Given the description of an element on the screen output the (x, y) to click on. 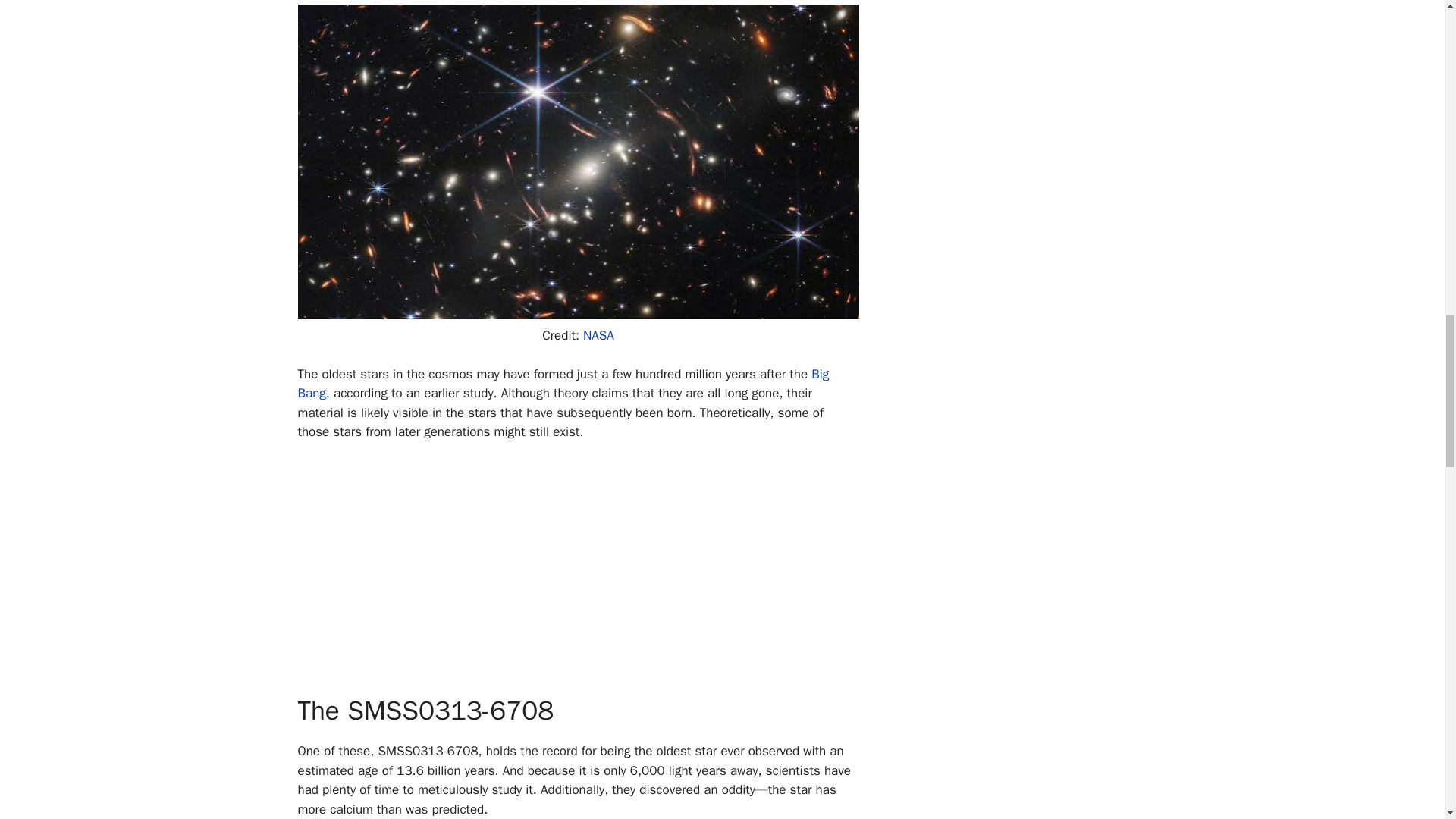
NASA (598, 335)
Big Bang, (562, 384)
